Given the description of an element on the screen output the (x, y) to click on. 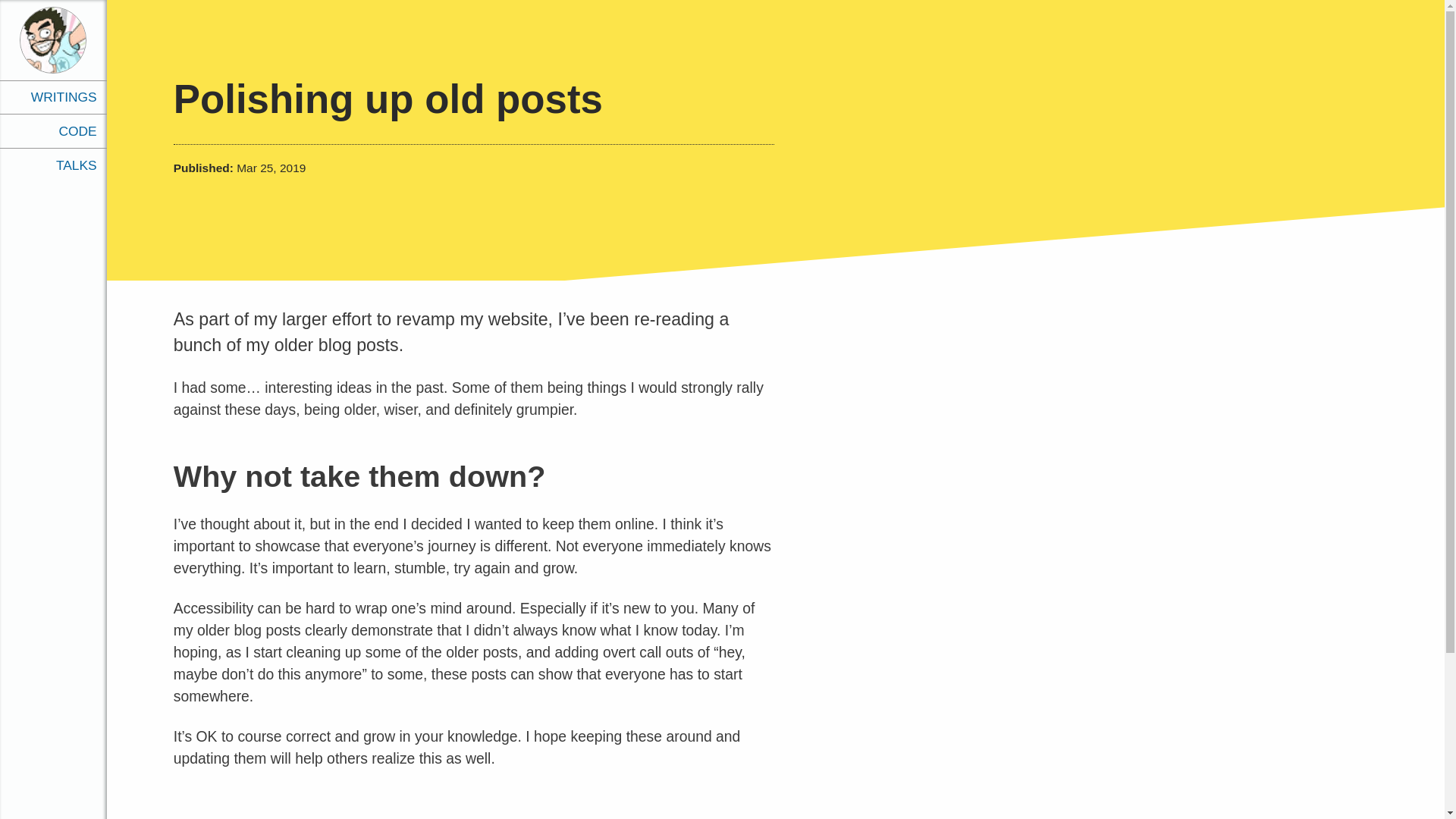
WRITINGS (53, 97)
TALKS (53, 164)
CODE (53, 130)
